Given the description of an element on the screen output the (x, y) to click on. 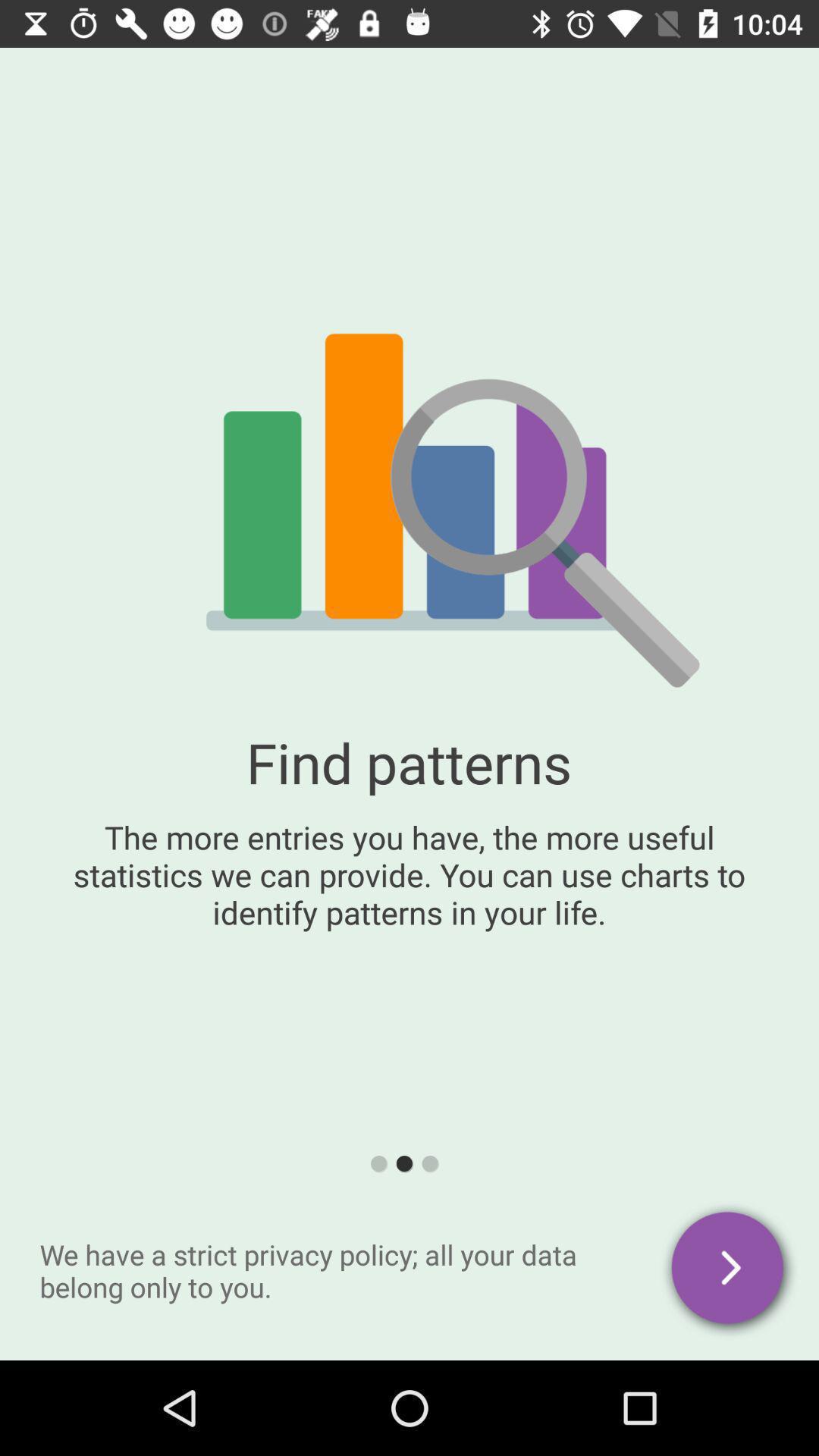
privacy policy (729, 1270)
